Given the description of an element on the screen output the (x, y) to click on. 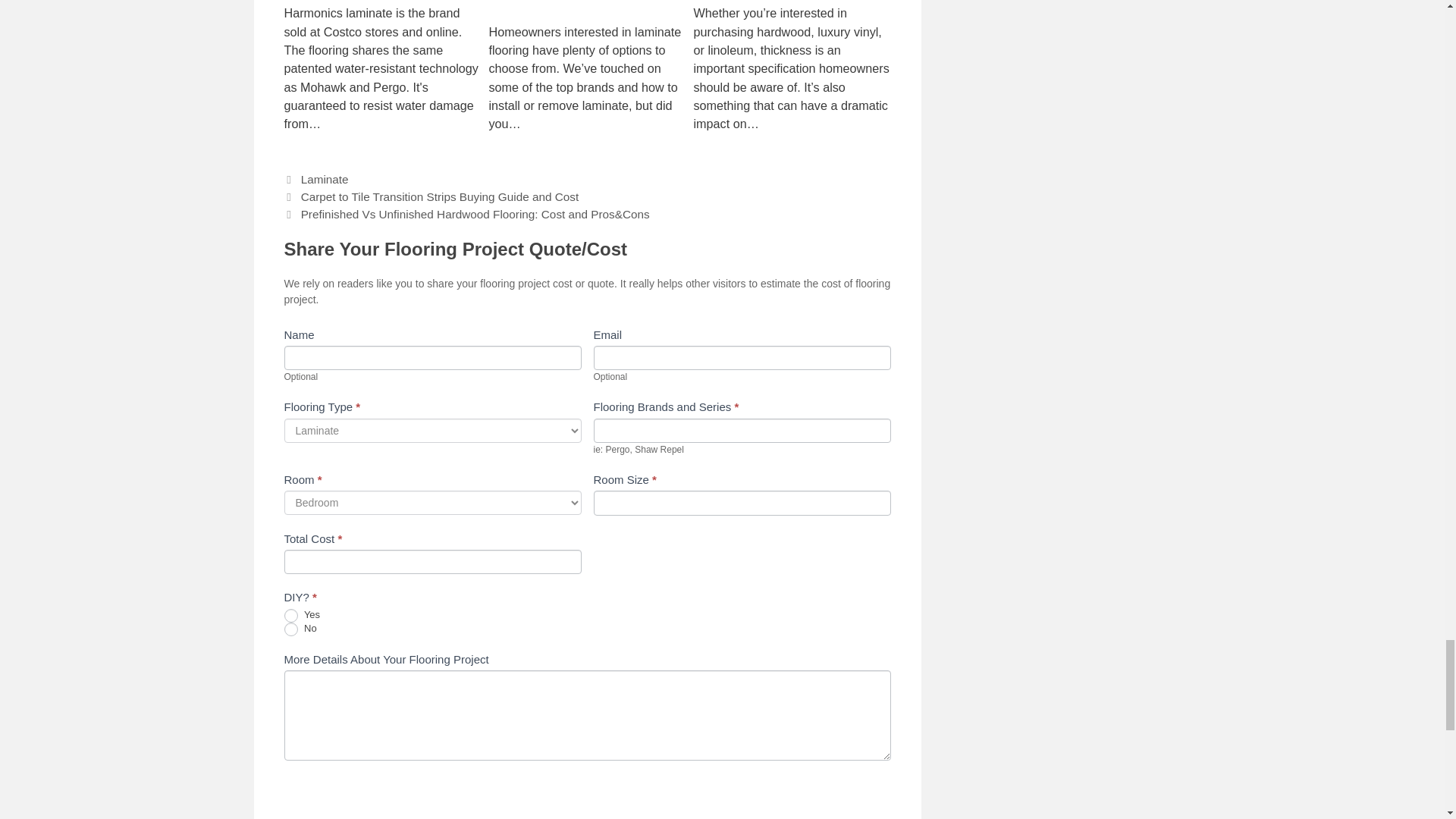
Yes (290, 615)
No (290, 629)
